Given the description of an element on the screen output the (x, y) to click on. 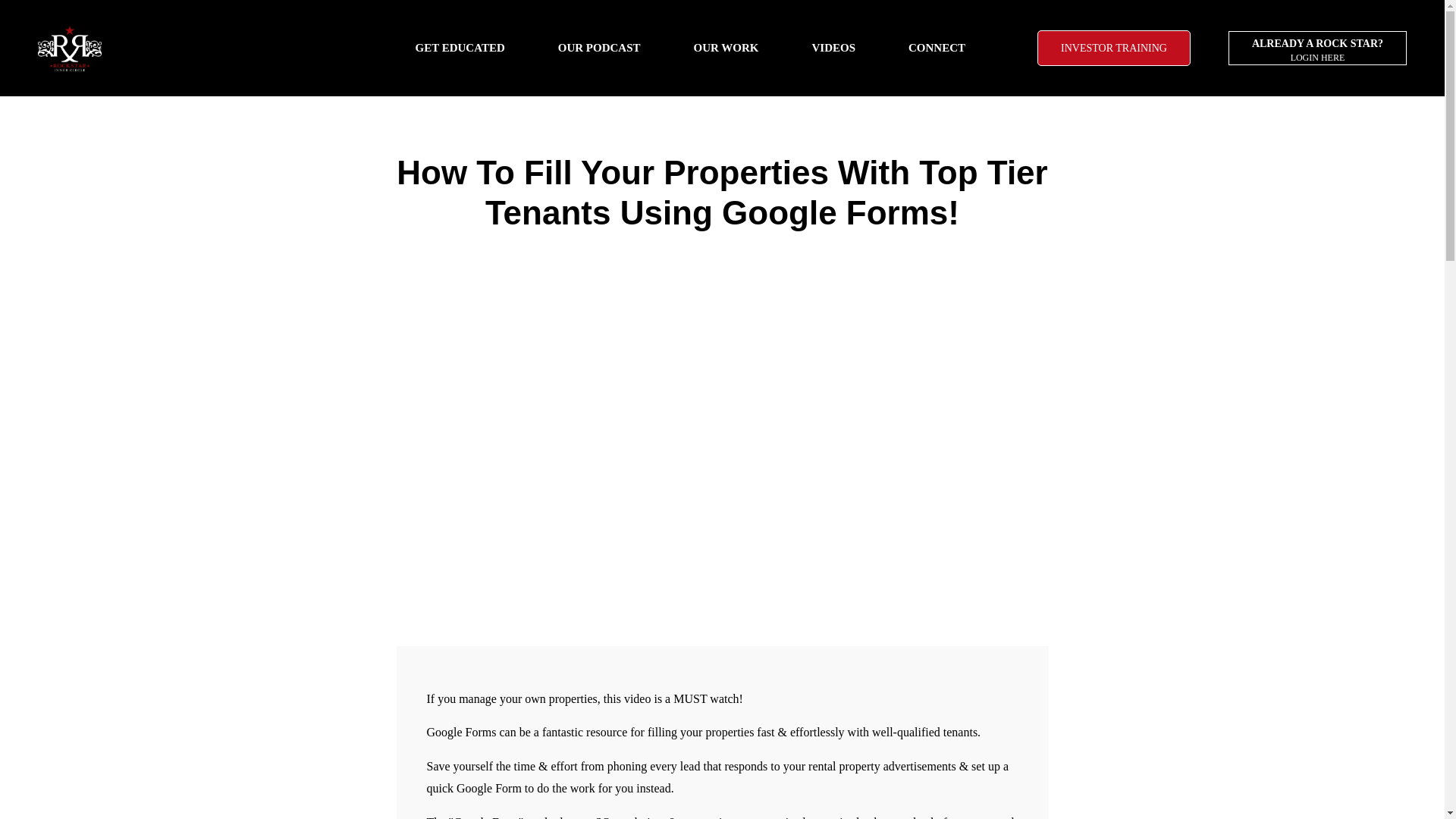
GET EDUCATED (459, 47)
VIDEOS (832, 47)
INVESTOR TRAINING (1113, 48)
CONNECT (1317, 48)
OUR PODCAST (936, 47)
OUR WORK (599, 47)
